Given the description of an element on the screen output the (x, y) to click on. 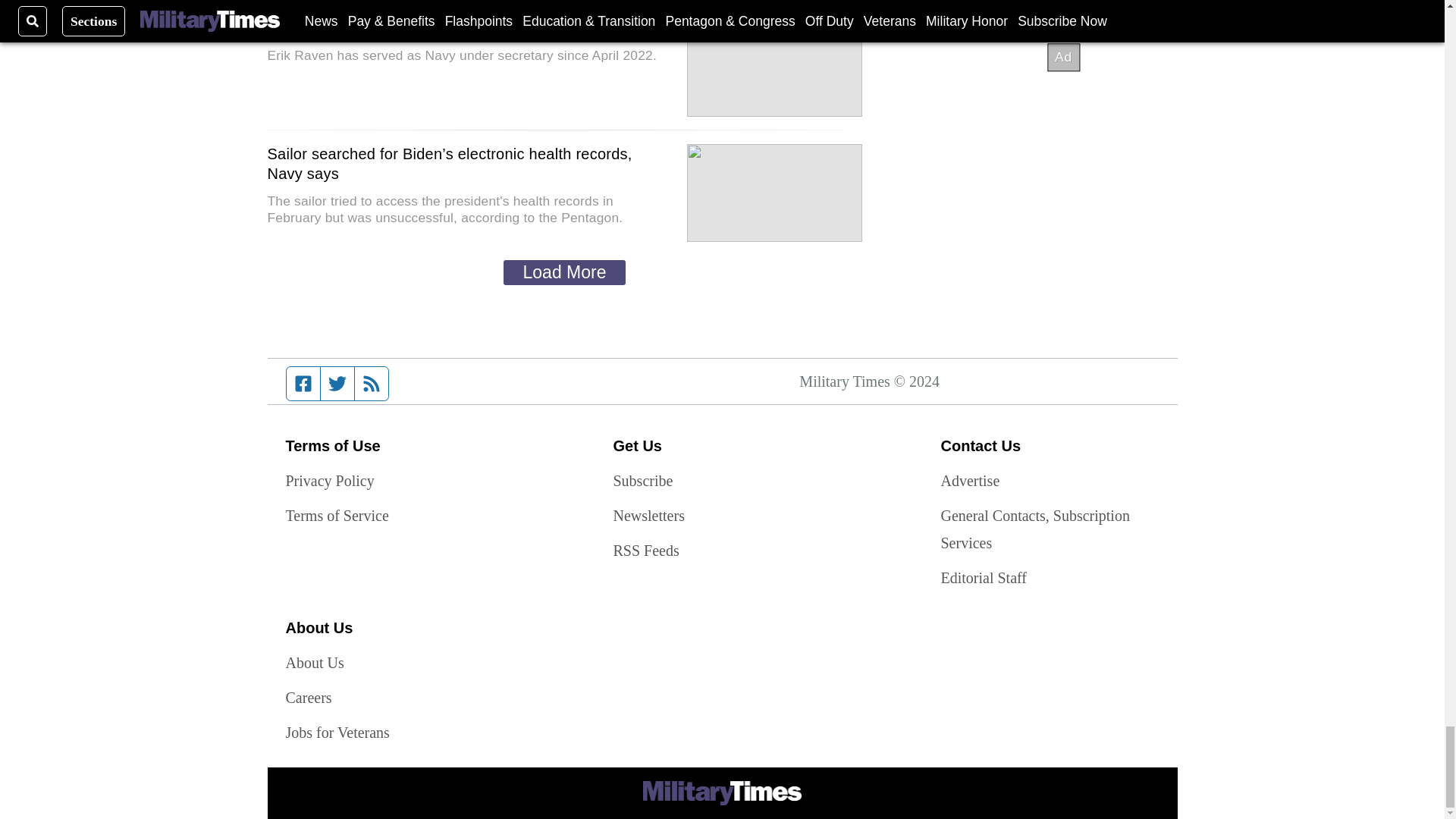
RSS feed (371, 383)
Facebook page (303, 383)
Twitter feed (336, 383)
